Given the description of an element on the screen output the (x, y) to click on. 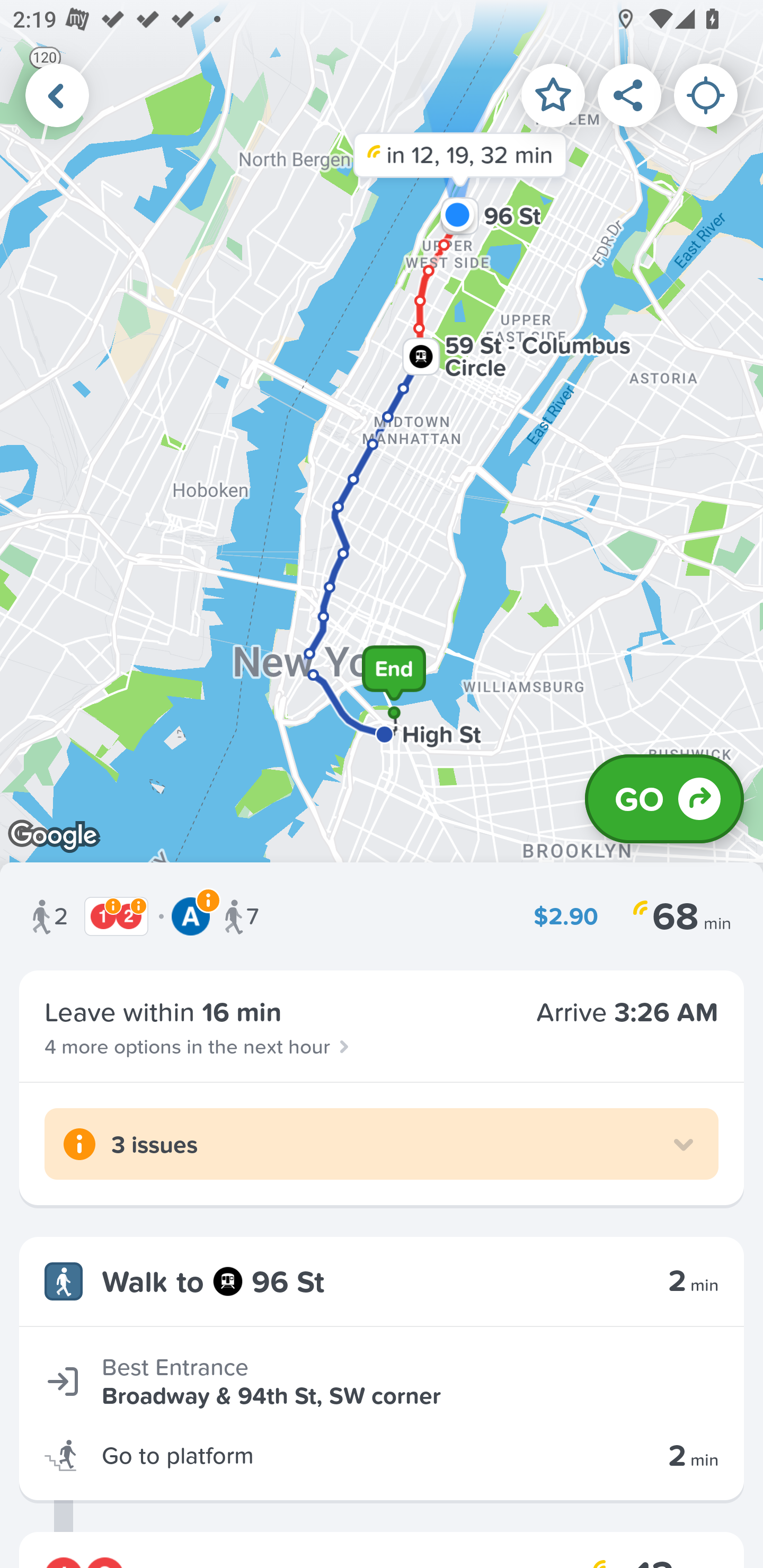
GO (664, 798)
